Given the description of an element on the screen output the (x, y) to click on. 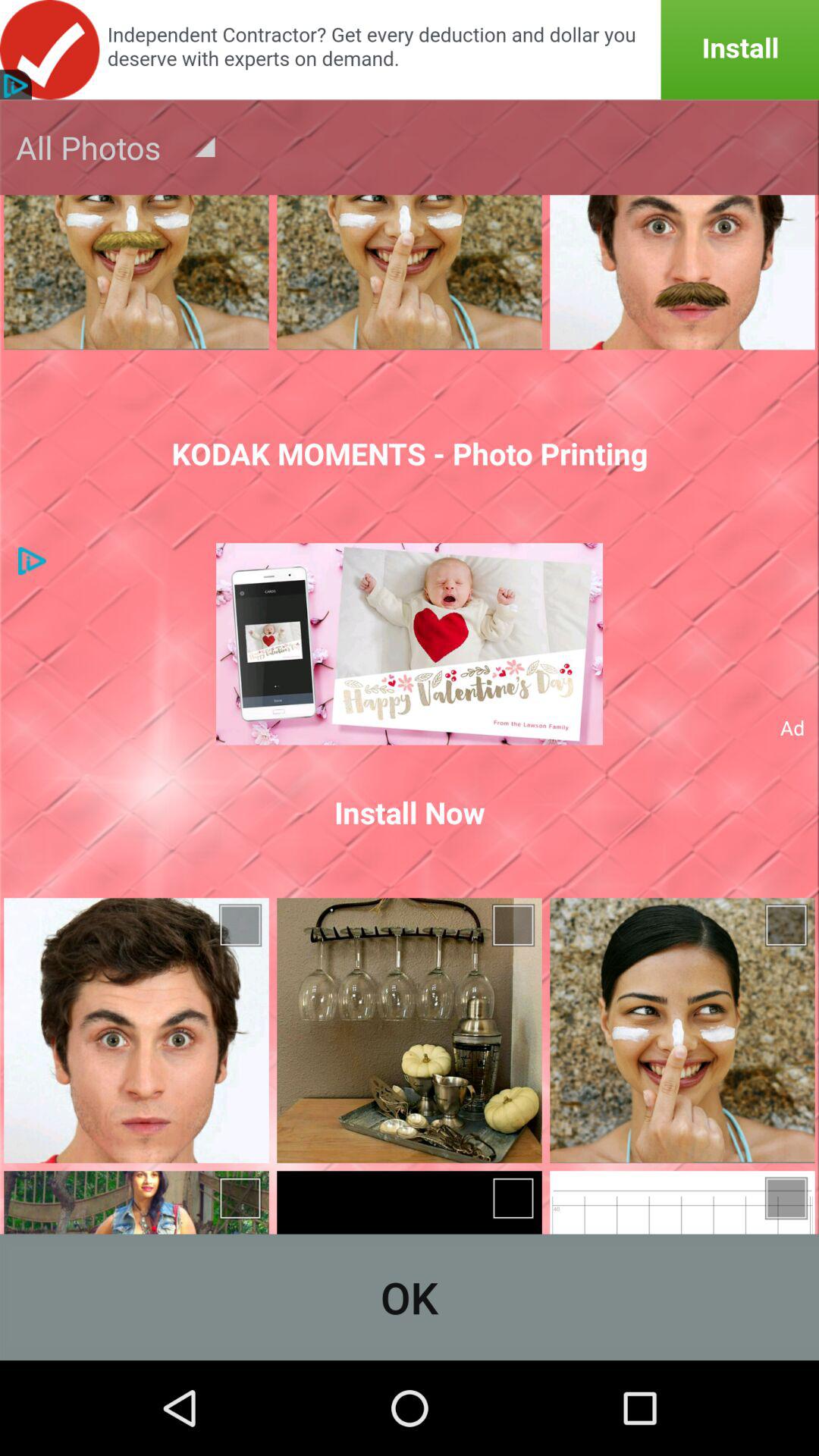
advertisement banner (409, 49)
